Given the description of an element on the screen output the (x, y) to click on. 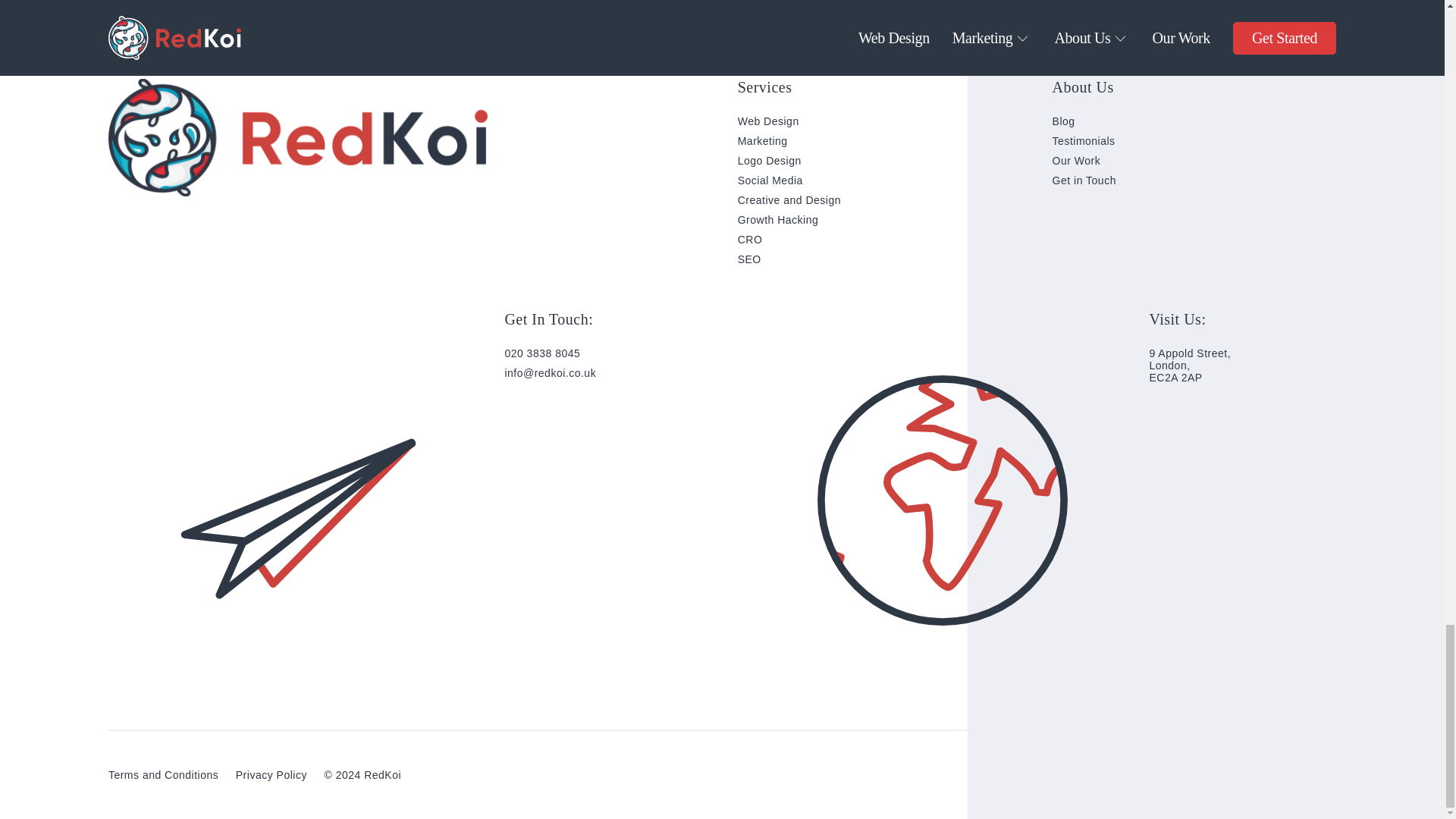
Web Design (768, 121)
Marketing (762, 141)
Services (765, 87)
